Given the description of an element on the screen output the (x, y) to click on. 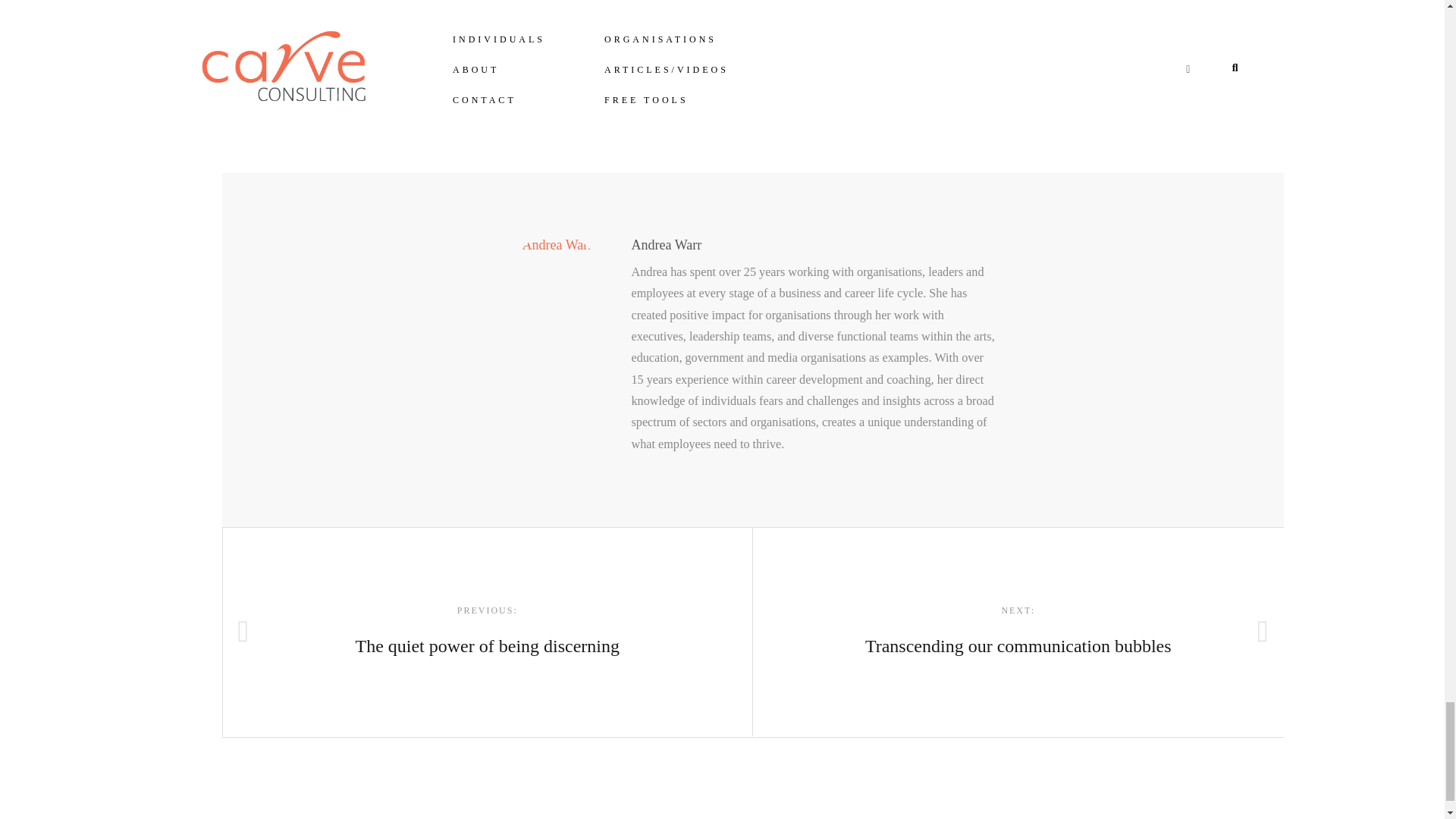
workplace (786, 117)
Posts by Andrea Warr (665, 244)
psychosocial risks (595, 117)
managing teams (1018, 631)
Andrea Warr (500, 117)
workplace culture (665, 244)
pyschological safety (859, 117)
